Given the description of an element on the screen output the (x, y) to click on. 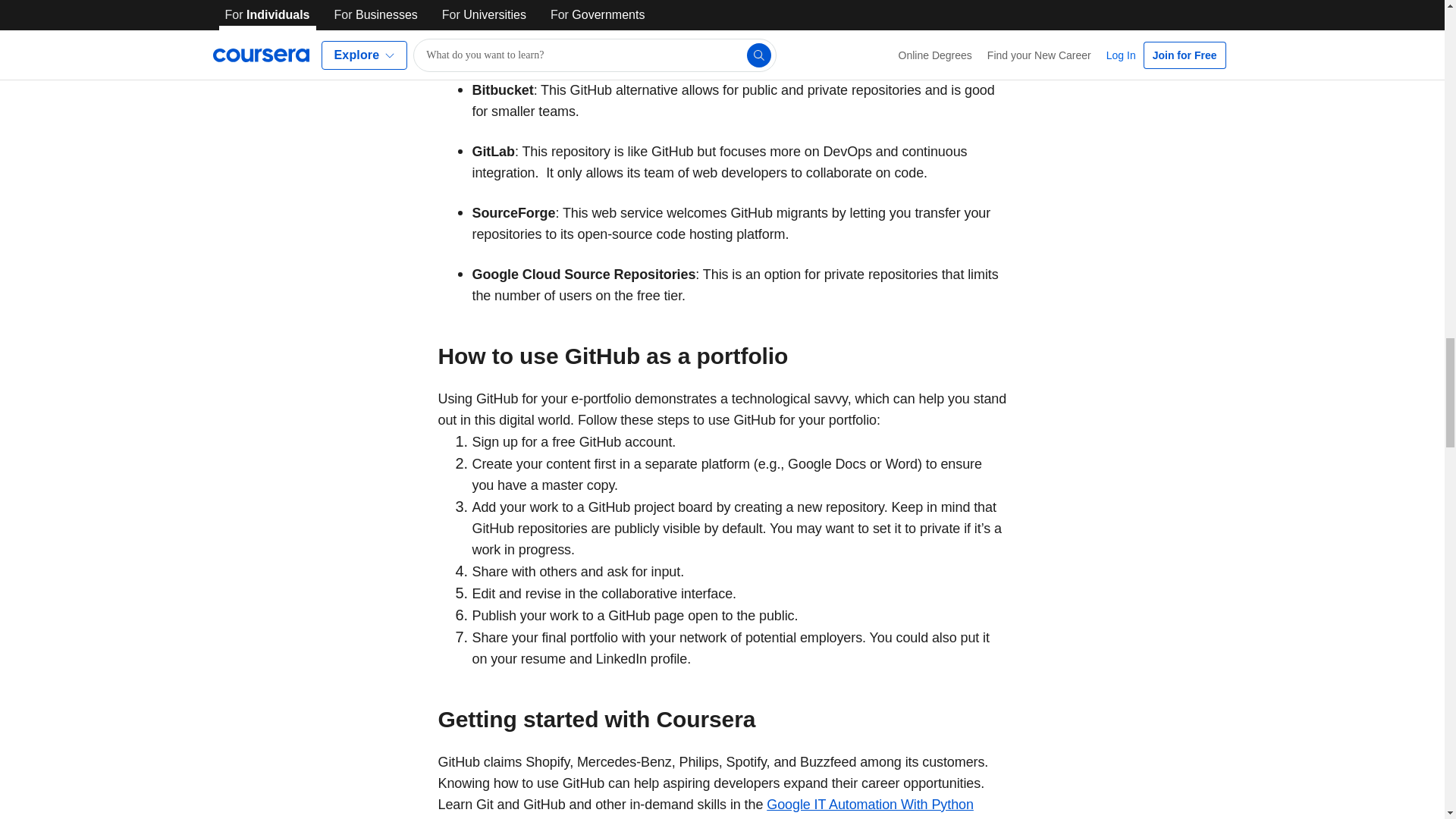
Google IT Automation With Python Professional Certificate (706, 807)
